Given the description of an element on the screen output the (x, y) to click on. 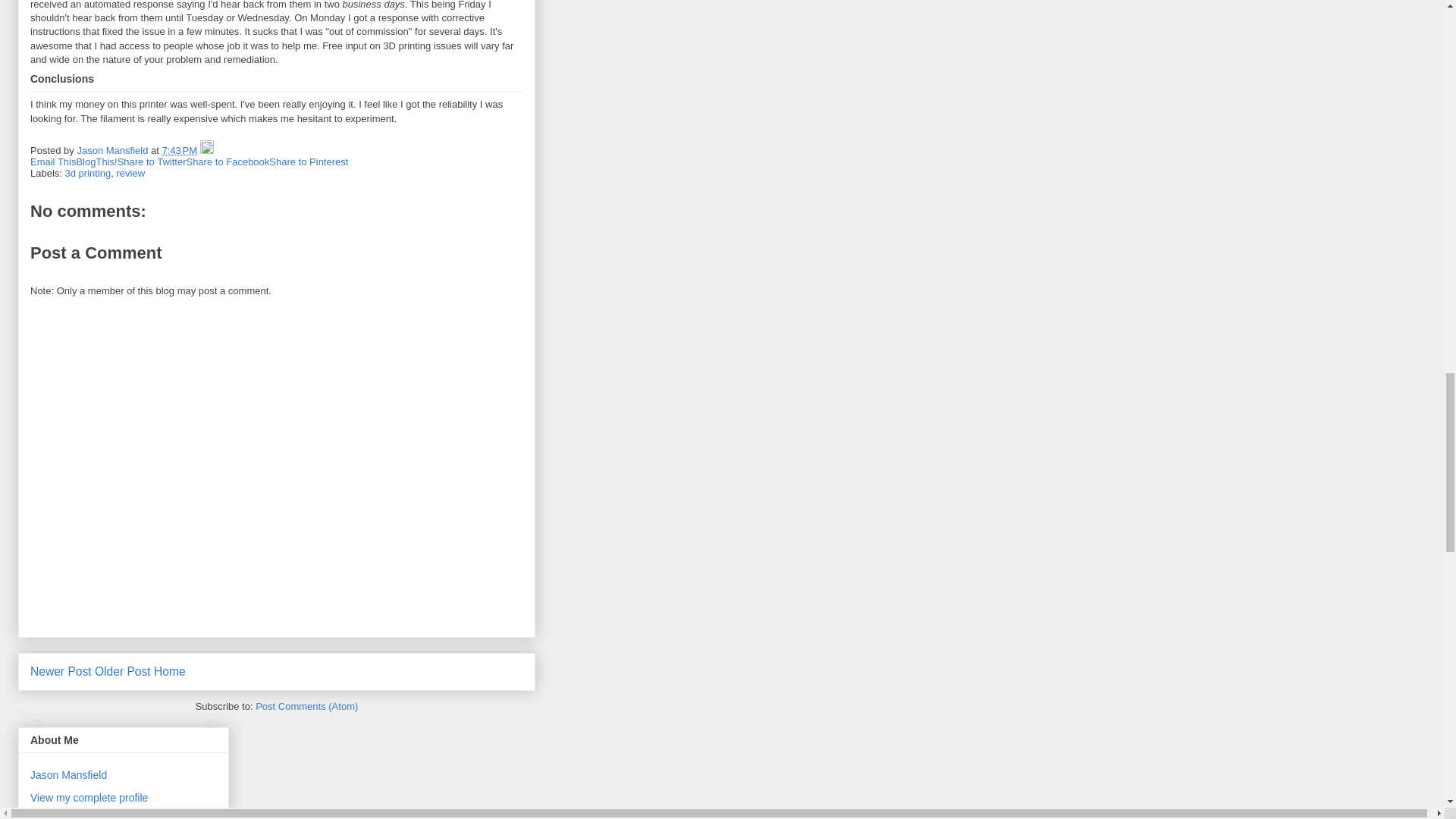
BlogThis! (95, 161)
Email This (52, 161)
View my complete profile (89, 797)
review (130, 173)
Email This (52, 161)
3d printing (88, 173)
permanent link (178, 150)
Home (170, 671)
Older Post (122, 671)
Newer Post (60, 671)
Newer Post (60, 671)
author profile (114, 150)
Share to Twitter (151, 161)
Older Post (122, 671)
Share to Pinterest (308, 161)
